Given the description of an element on the screen output the (x, y) to click on. 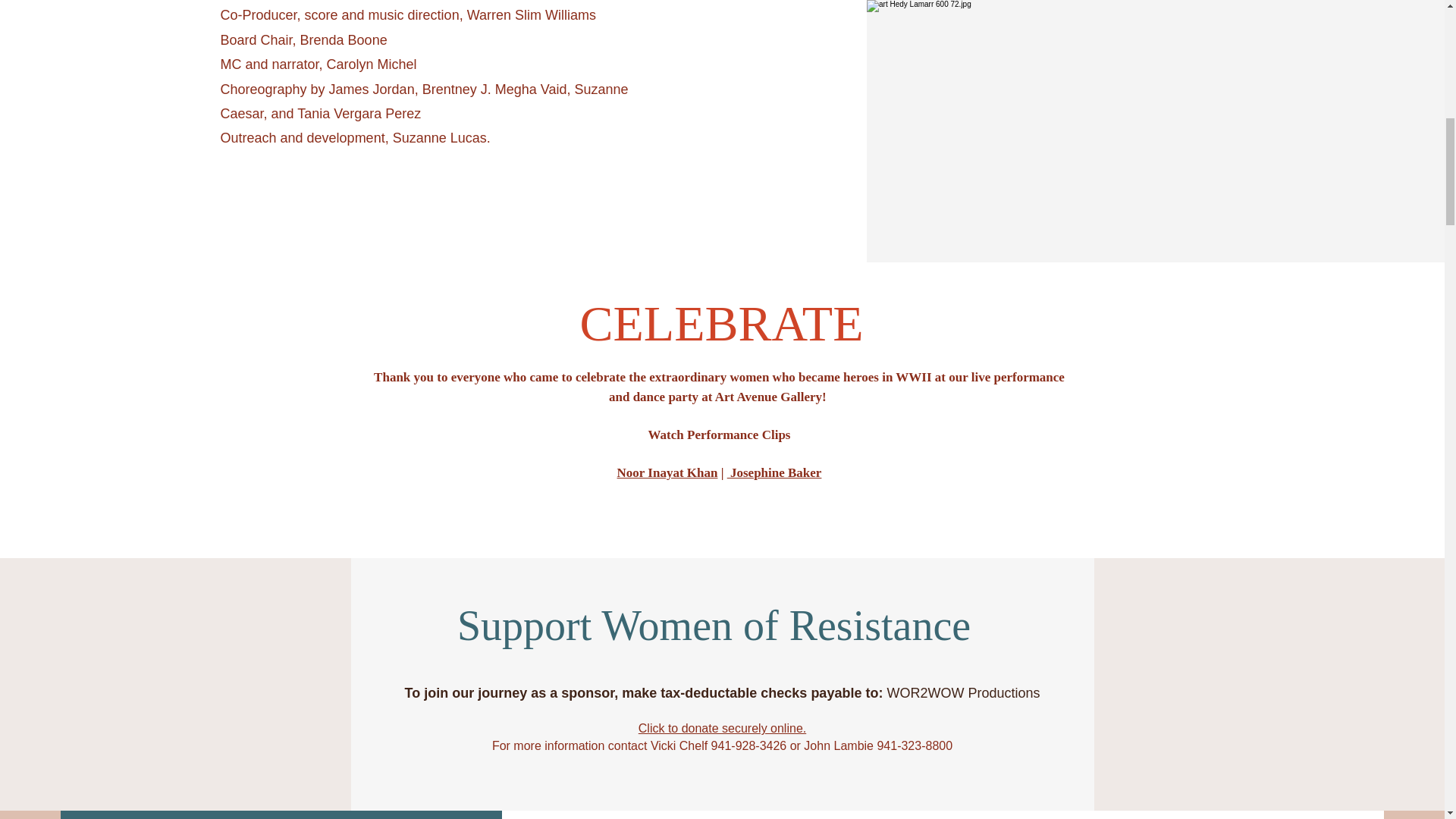
 Josephine Baker (774, 472)
Noor Inayat Khan (667, 472)
Click to donate securely online. (722, 727)
